Given the description of an element on the screen output the (x, y) to click on. 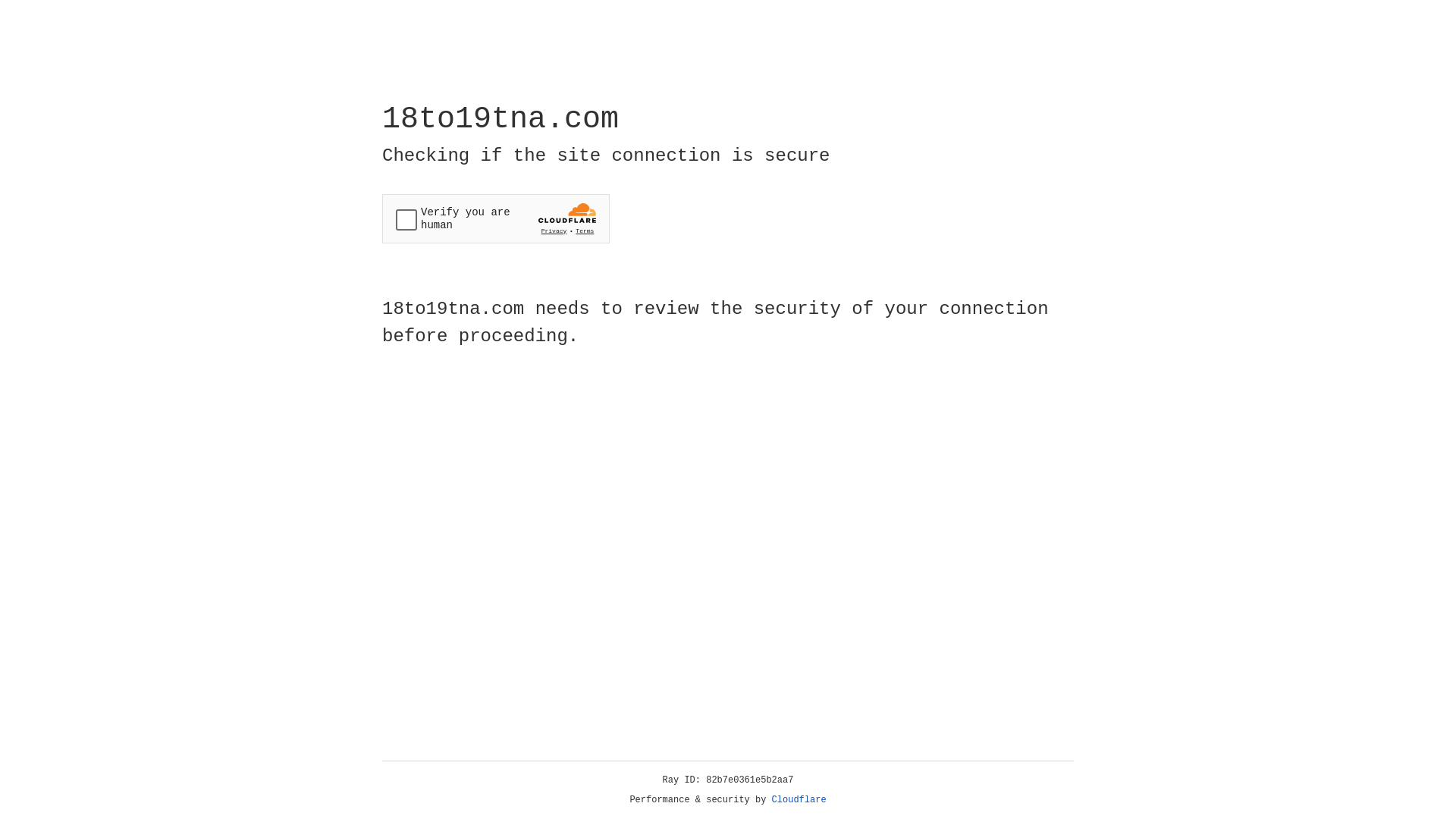
Widget containing a Cloudflare security challenge Element type: hover (495, 218)
Cloudflare Element type: text (798, 799)
